Given the description of an element on the screen output the (x, y) to click on. 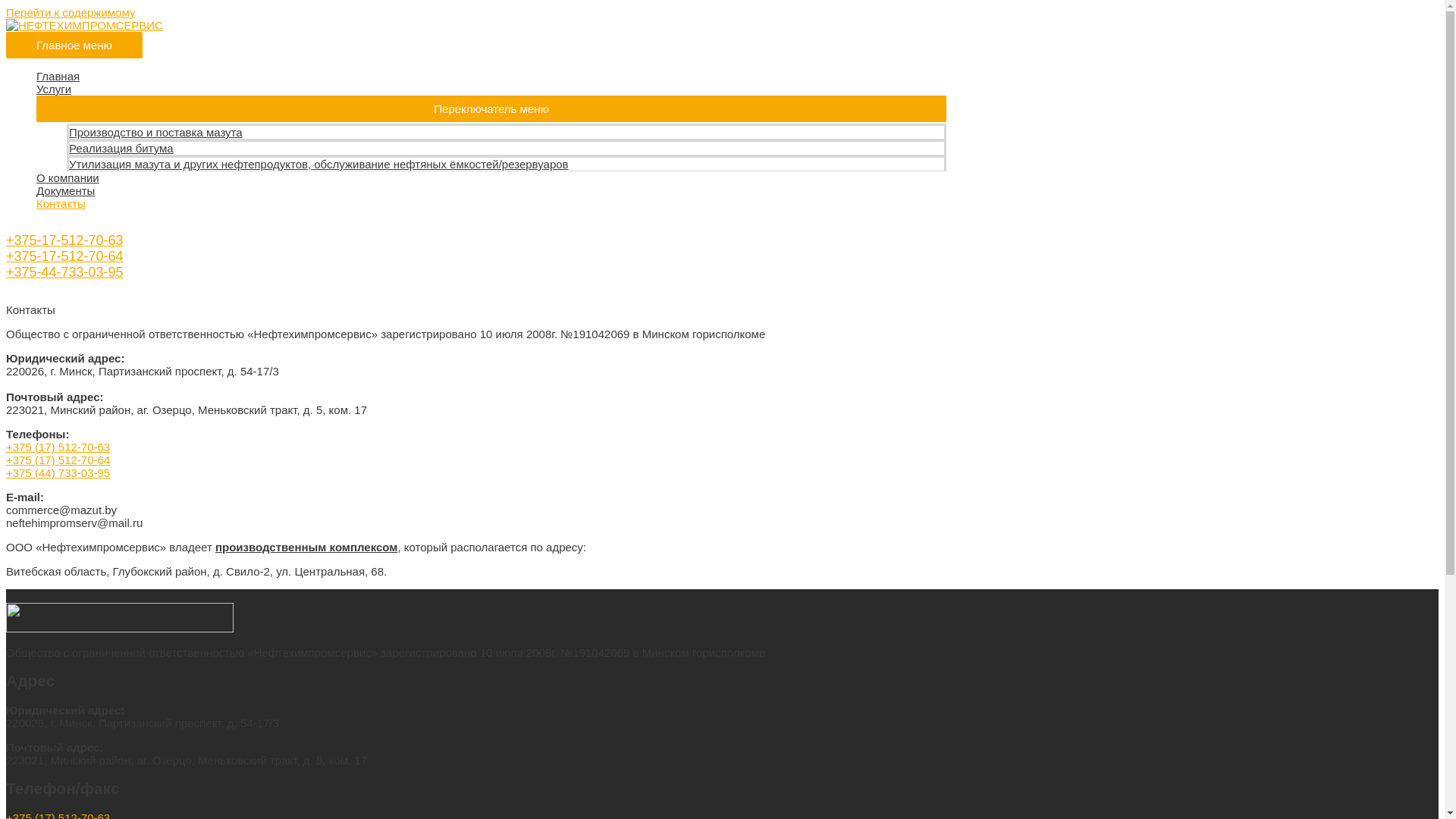
+375 (44) 733-03-95 Element type: text (57, 472)
+375-17-512-70-63 Element type: text (64, 239)
+375 (17) 512-70-63 Element type: text (57, 446)
+375 (17) 512-70-64 Element type: text (57, 459)
+375-44-733-03-95 Element type: text (64, 271)
+375-17-512-70-64 Element type: text (64, 255)
